Given the description of an element on the screen output the (x, y) to click on. 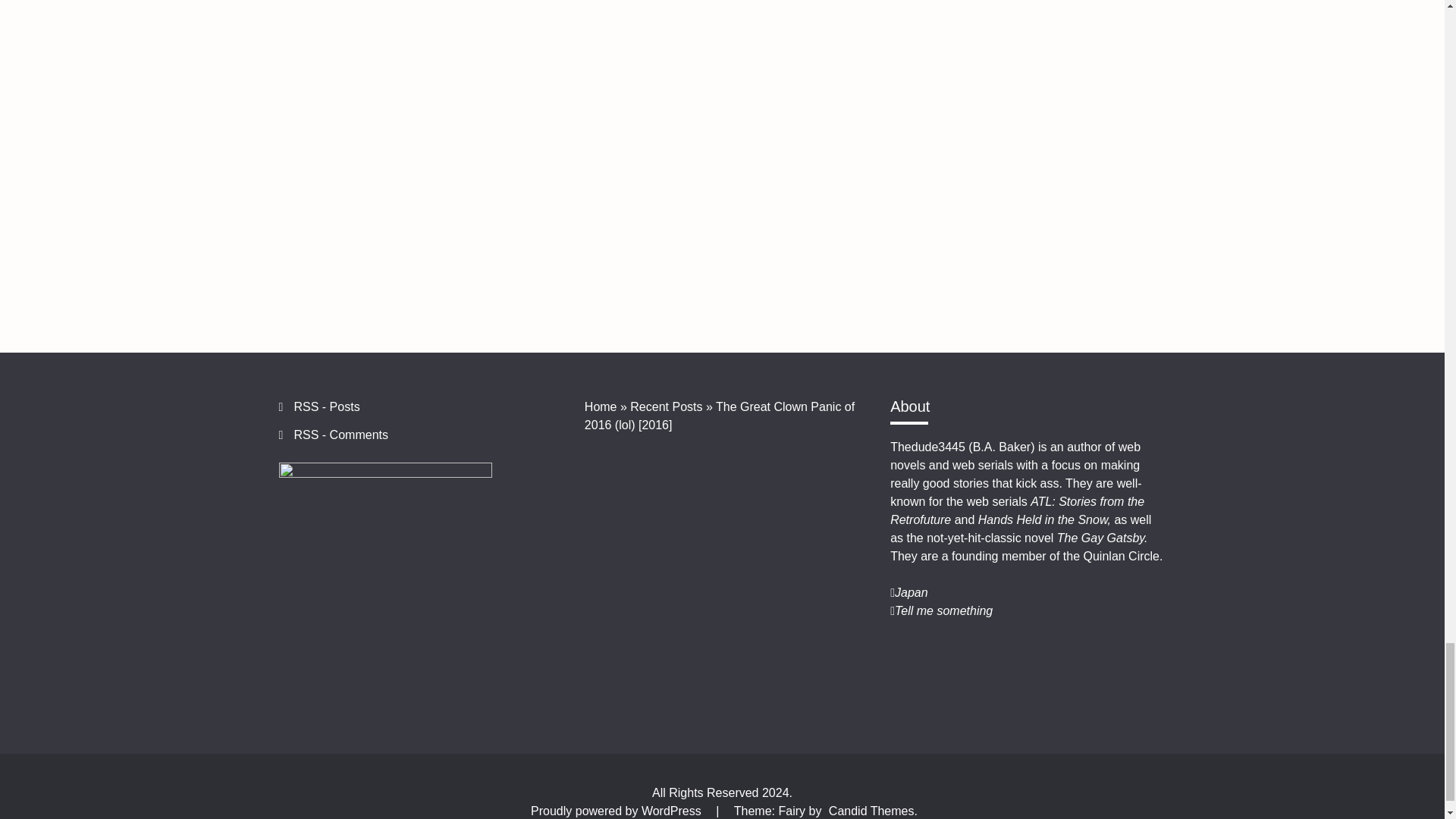
Subscribe to posts (326, 406)
Subscribe to comments (341, 434)
